Given the description of an element on the screen output the (x, y) to click on. 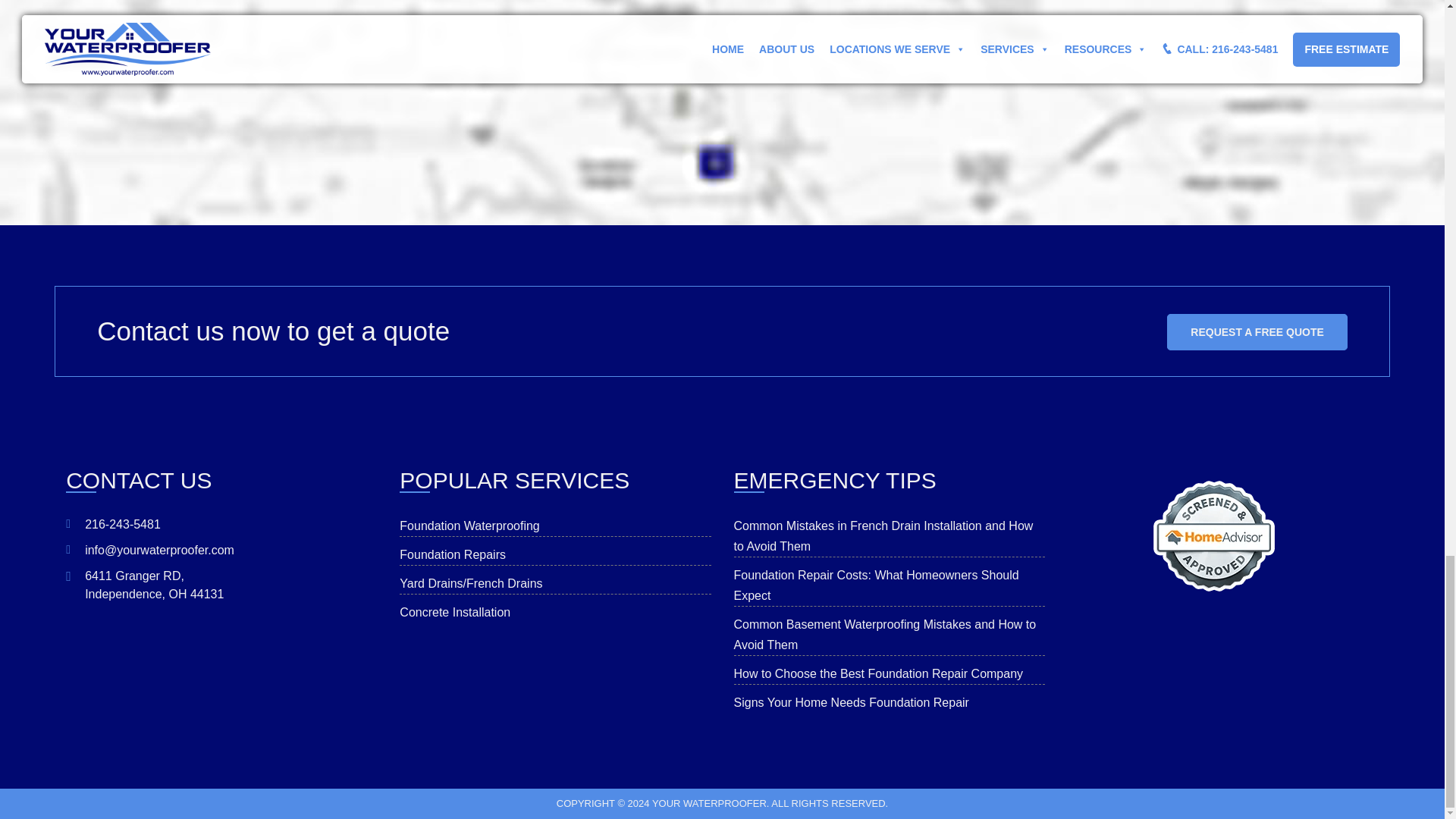
Foundation Waterproofing (468, 525)
216-243-5481 (221, 524)
REQUEST A FREE QUOTE (1257, 331)
Foundation Repairs (451, 554)
